Given the description of an element on the screen output the (x, y) to click on. 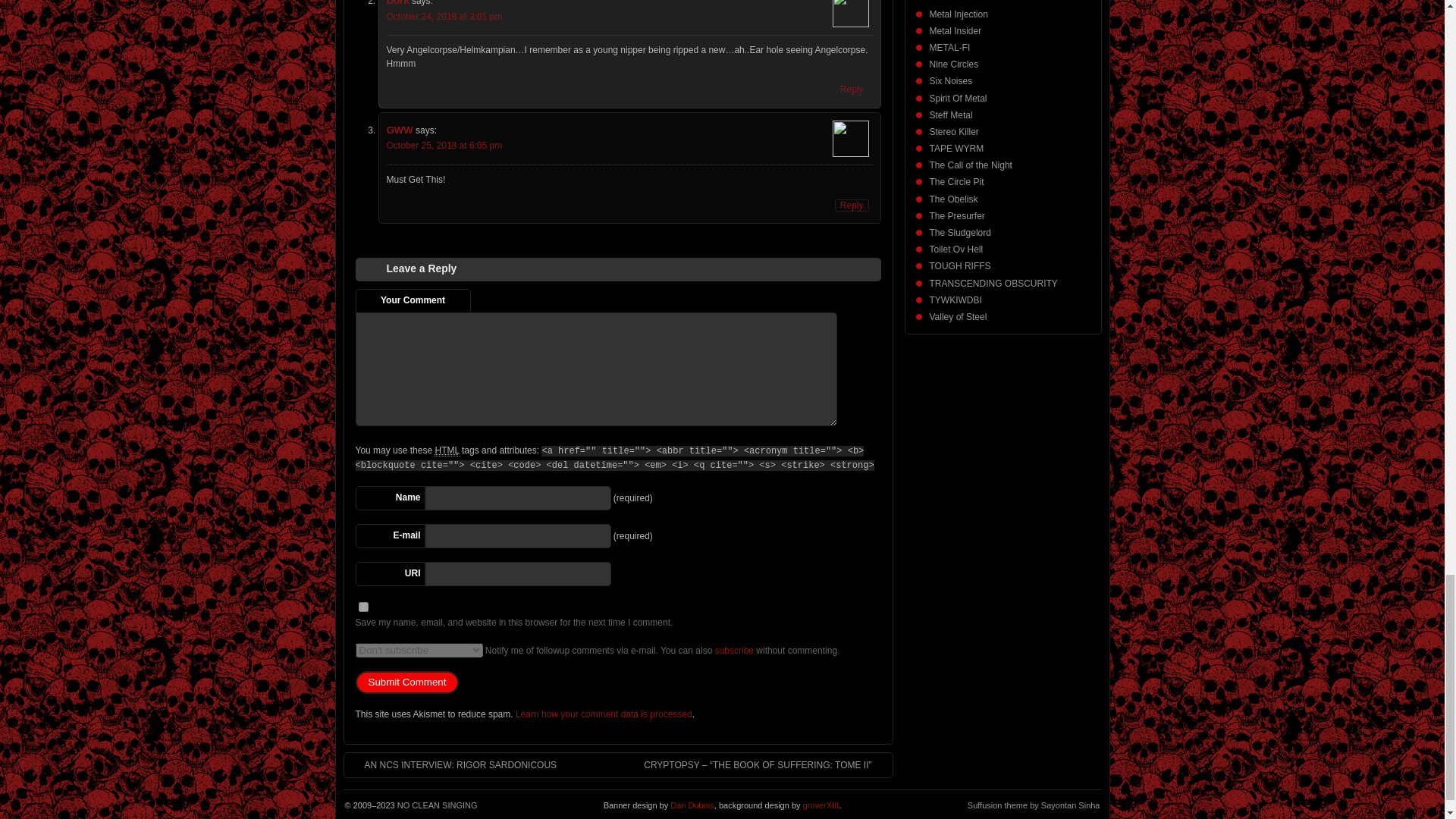
subscribe (734, 650)
Reply (851, 89)
Submit Comment (406, 681)
  AN NCS INTERVIEW: RIGOR SARDONICOUS (452, 765)
Submit Comment (406, 681)
Learn how your comment data is processed (604, 714)
October 24, 2018 at 3:01 pm (444, 16)
Reply (851, 205)
yes (363, 606)
October 25, 2018 at 6:05 pm (444, 145)
